Given the description of an element on the screen output the (x, y) to click on. 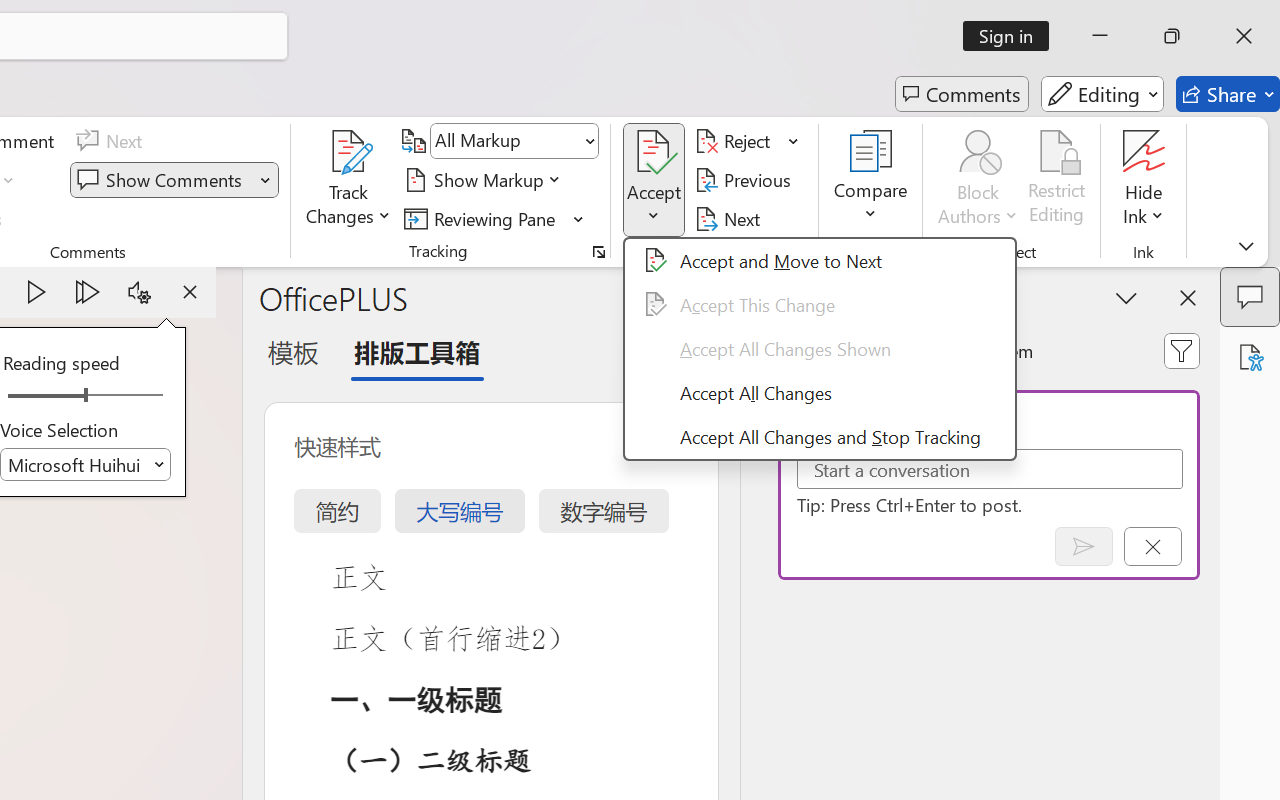
Voice Selection (85, 464)
Previous (745, 179)
Next (730, 218)
Reviewing Pane (483, 218)
Play (36, 292)
Change Tracking Options... (598, 252)
Next Paragraph (87, 292)
Reviewing Pane (494, 218)
